Given the description of an element on the screen output the (x, y) to click on. 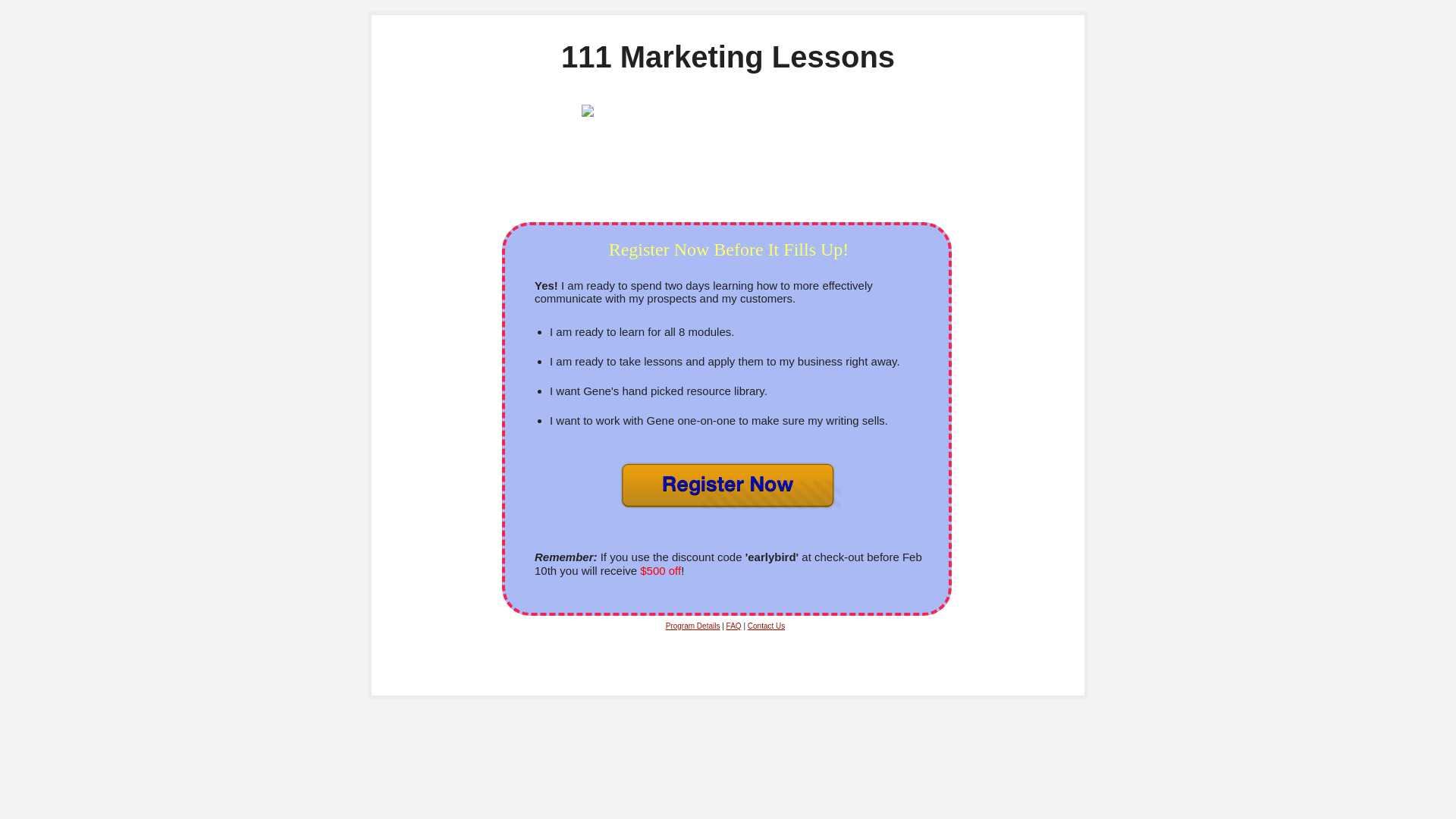
FAQ Element type: text (733, 625)
Contact Us Element type: text (765, 625)
Program Details Element type: text (692, 625)
